Given the description of an element on the screen output the (x, y) to click on. 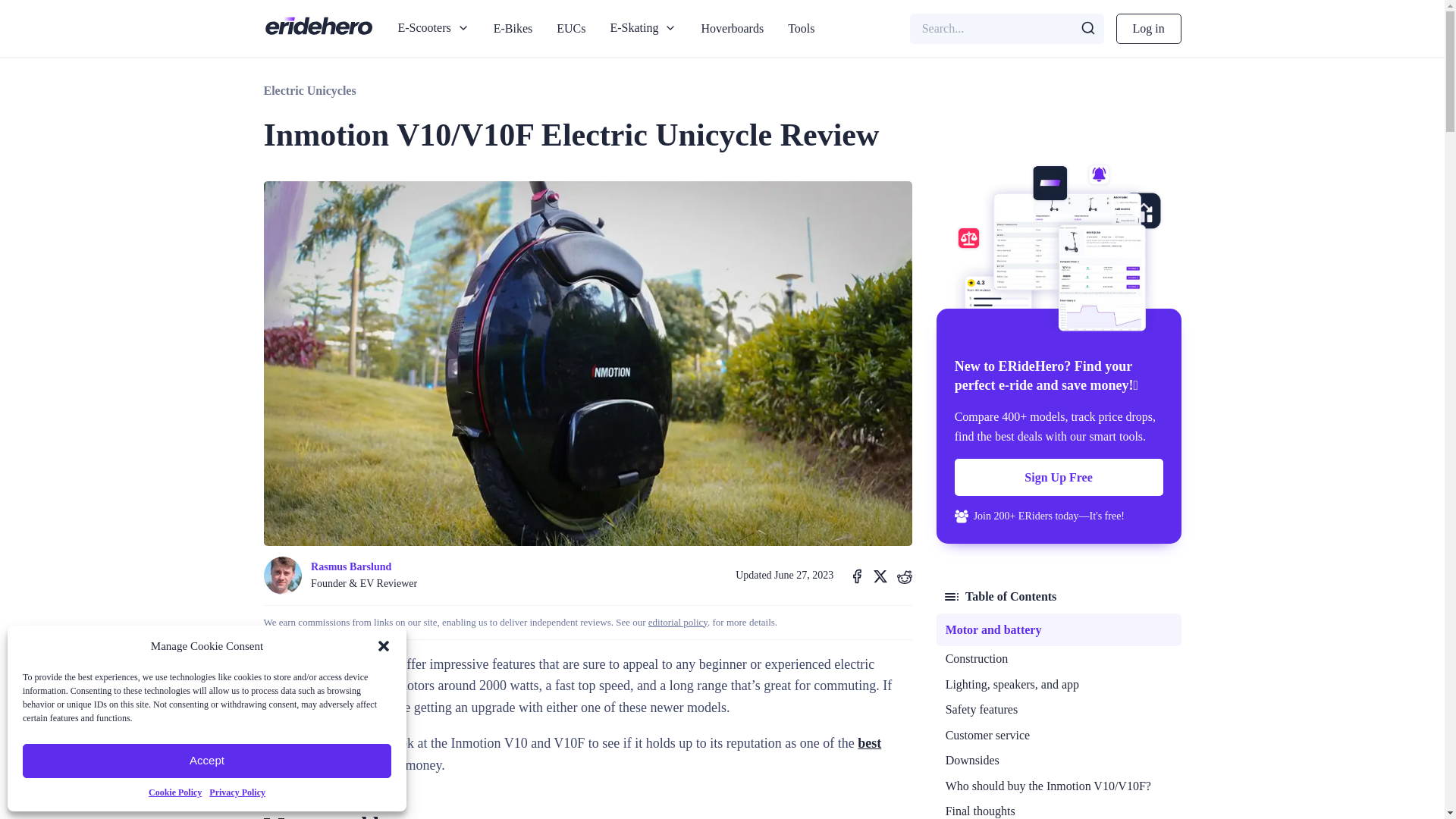
Cookie Policy (175, 792)
E-Skating (642, 27)
E-Scooters (432, 27)
Reddit (904, 575)
Privacy Policy (236, 792)
Rasmus Barslund (363, 566)
EUCs (570, 29)
Log in (1148, 28)
Accept (207, 760)
Electric Unicycles (309, 90)
